Given the description of an element on the screen output the (x, y) to click on. 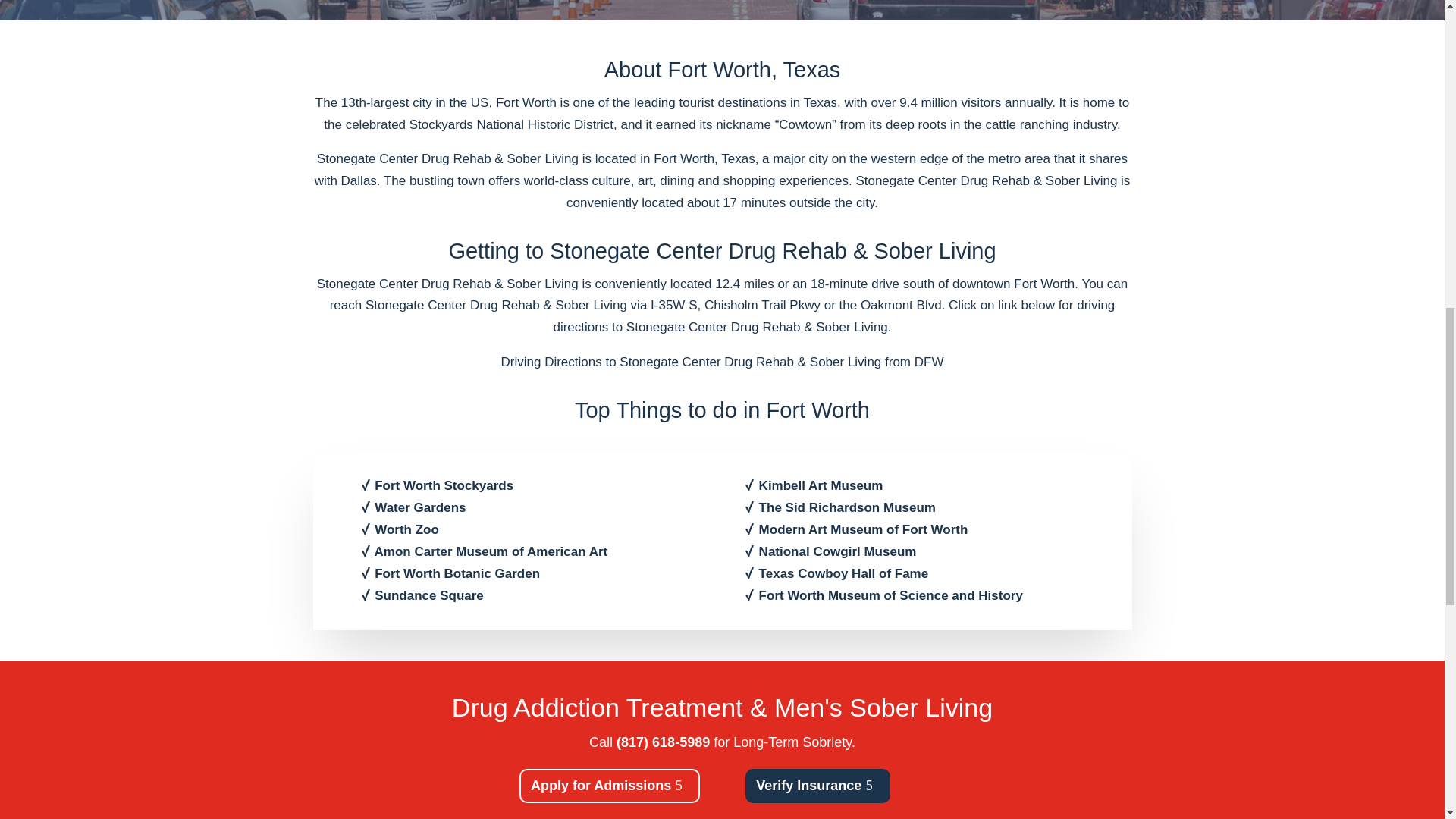
" (722, 2)
" (722, 2)
